Given the description of an element on the screen output the (x, y) to click on. 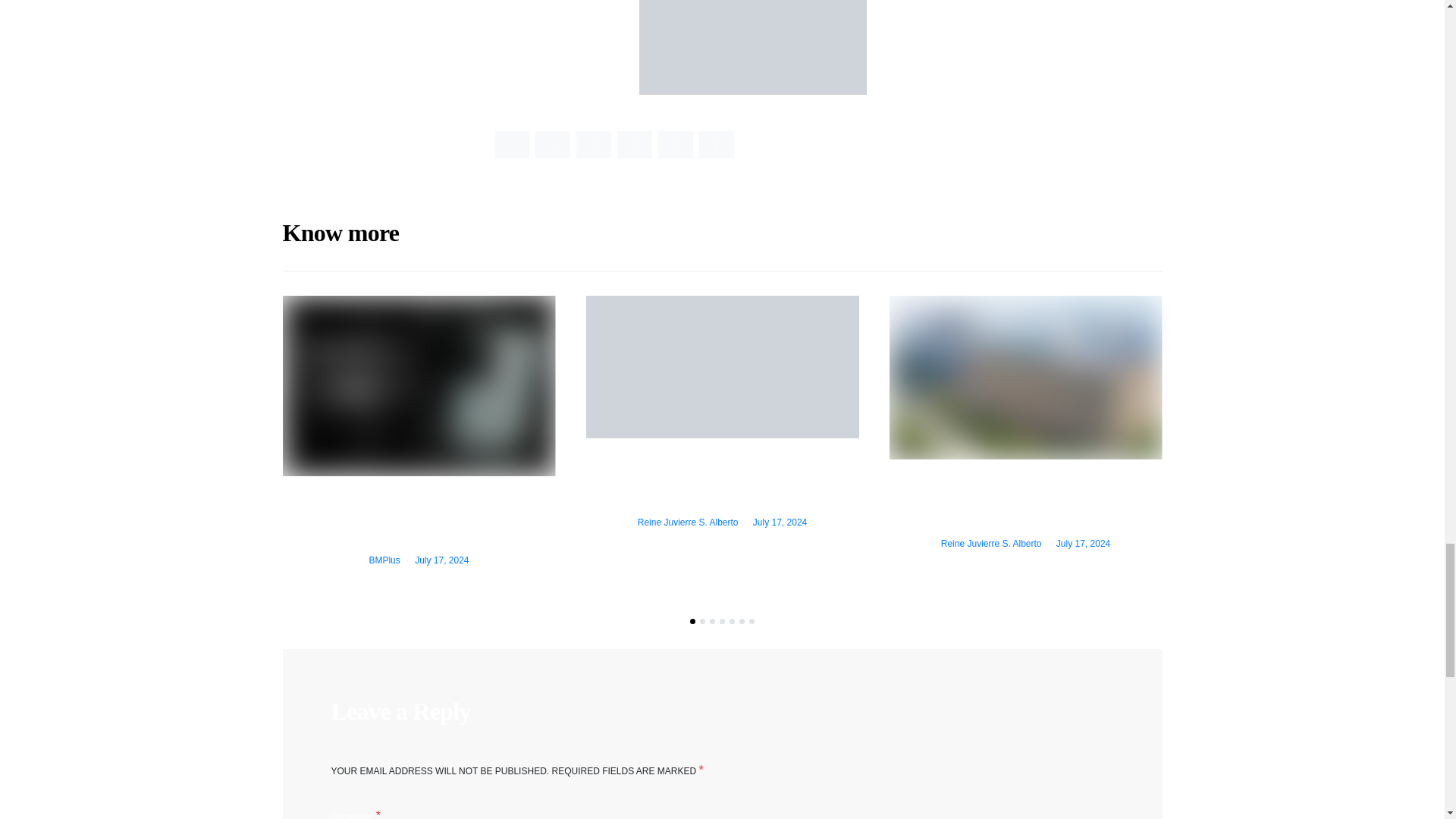
View all posts by BMPlus (383, 560)
View all posts by Reine Juvierre S. Alberto (687, 521)
View all posts by Reine Juvierre S. Alberto (991, 543)
